Given the description of an element on the screen output the (x, y) to click on. 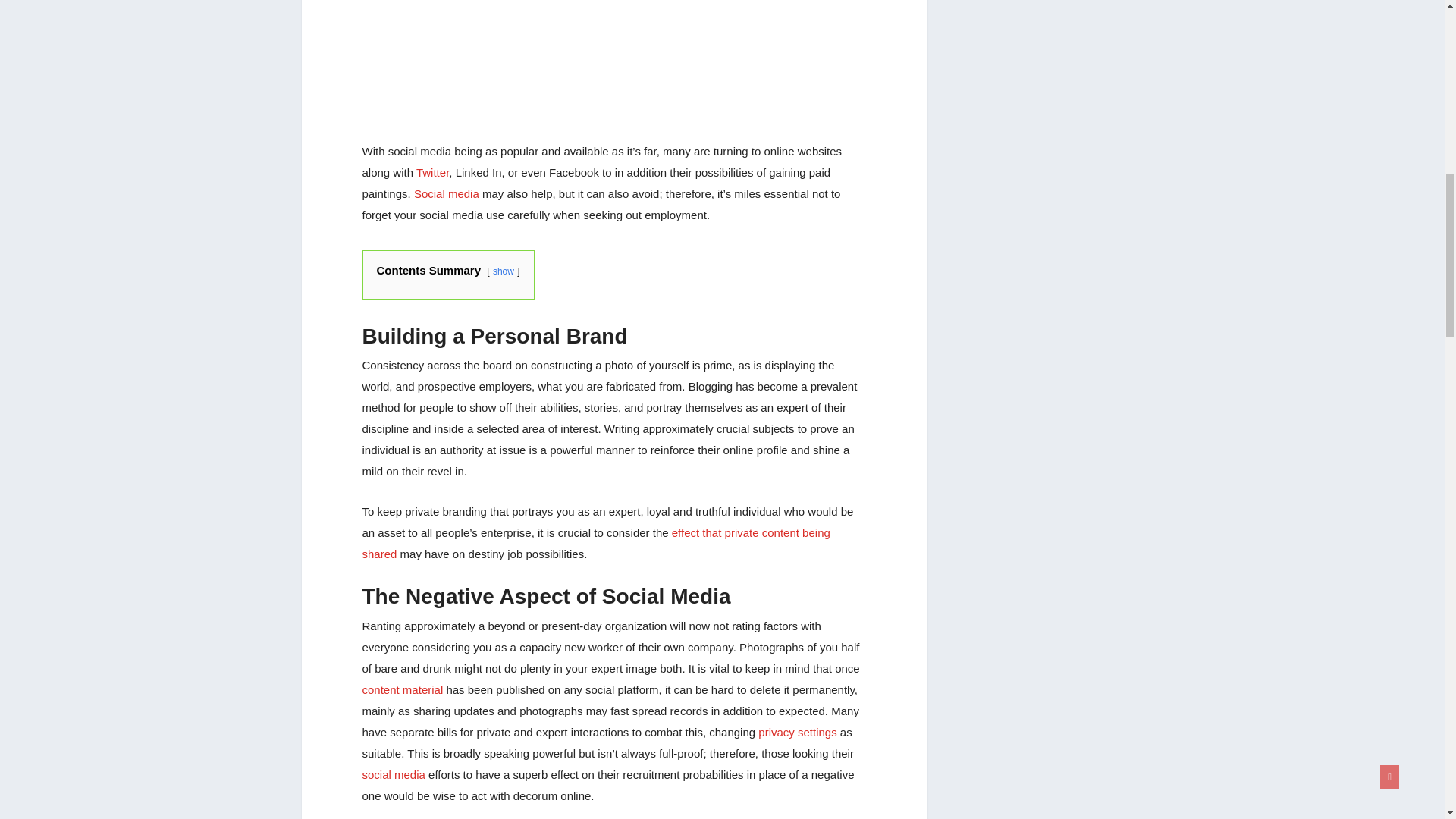
Twitter (432, 172)
effect that private content being shared (595, 543)
The Impact of Social Media on Your Search for Work 1 (614, 61)
Social media (446, 193)
content material (403, 689)
show (503, 271)
